Given the description of an element on the screen output the (x, y) to click on. 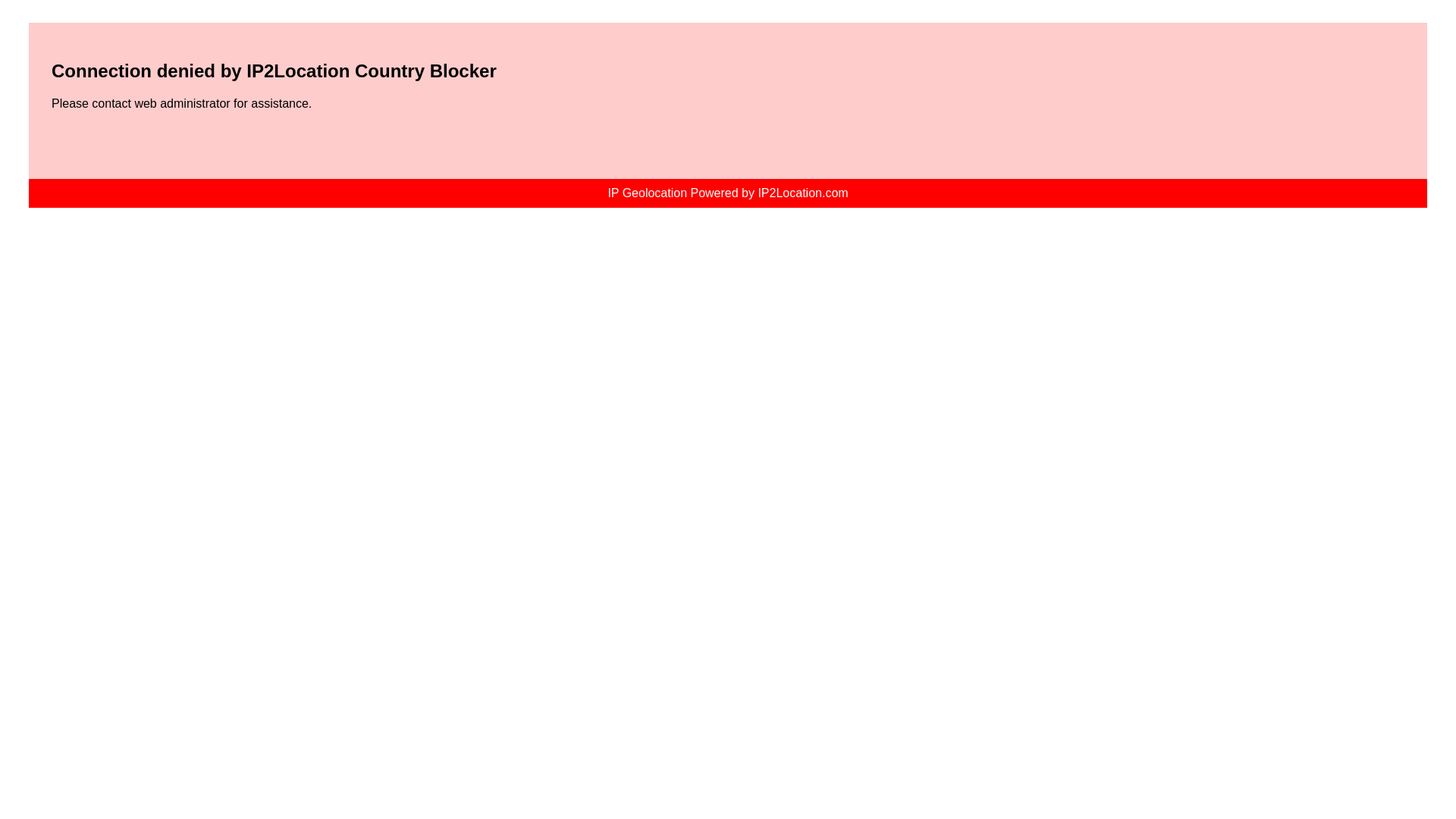
IP Geolocation Powered by IP2Location.com (727, 192)
